Given the description of an element on the screen output the (x, y) to click on. 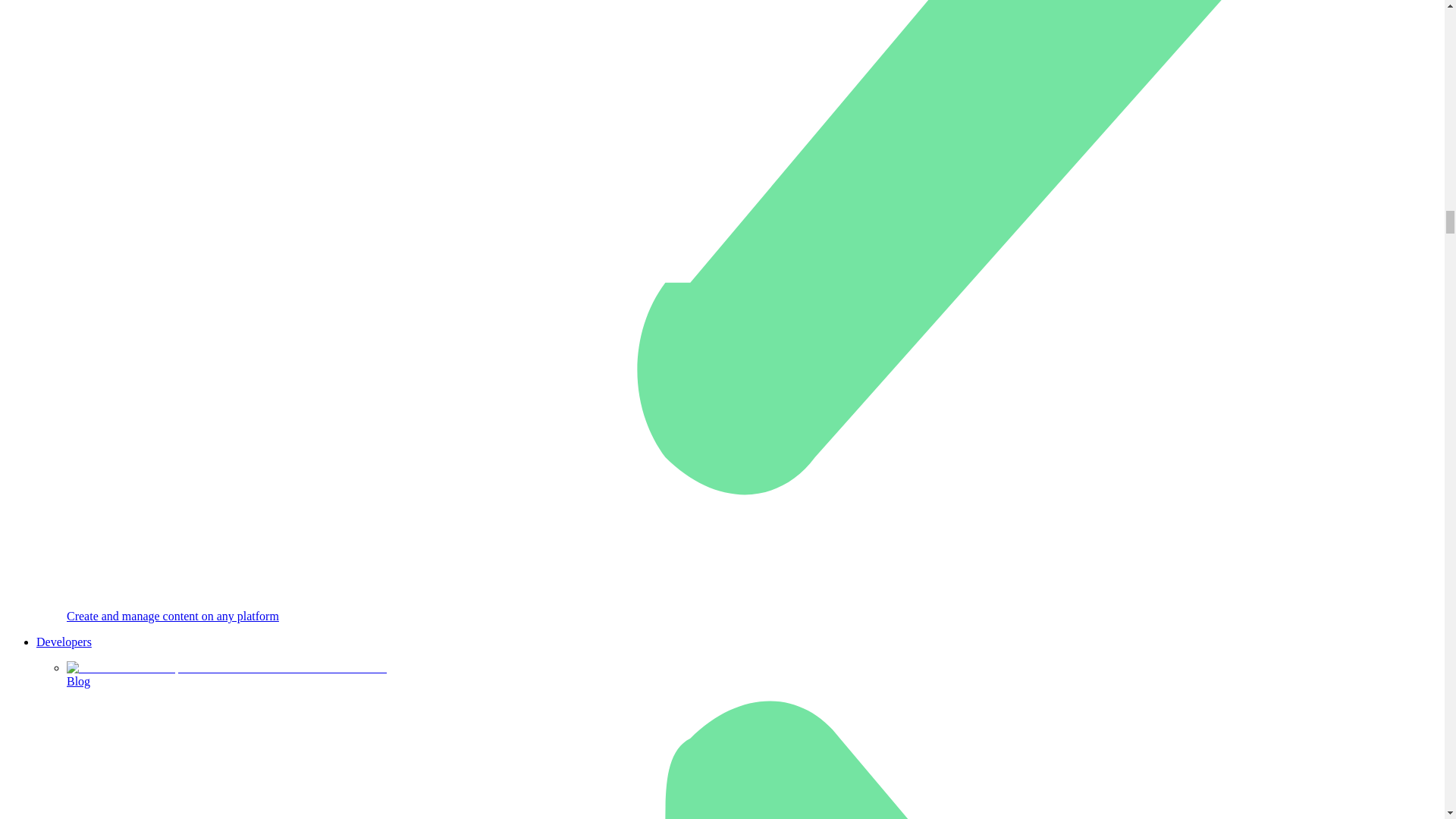
Developers (63, 641)
